Given the description of an element on the screen output the (x, y) to click on. 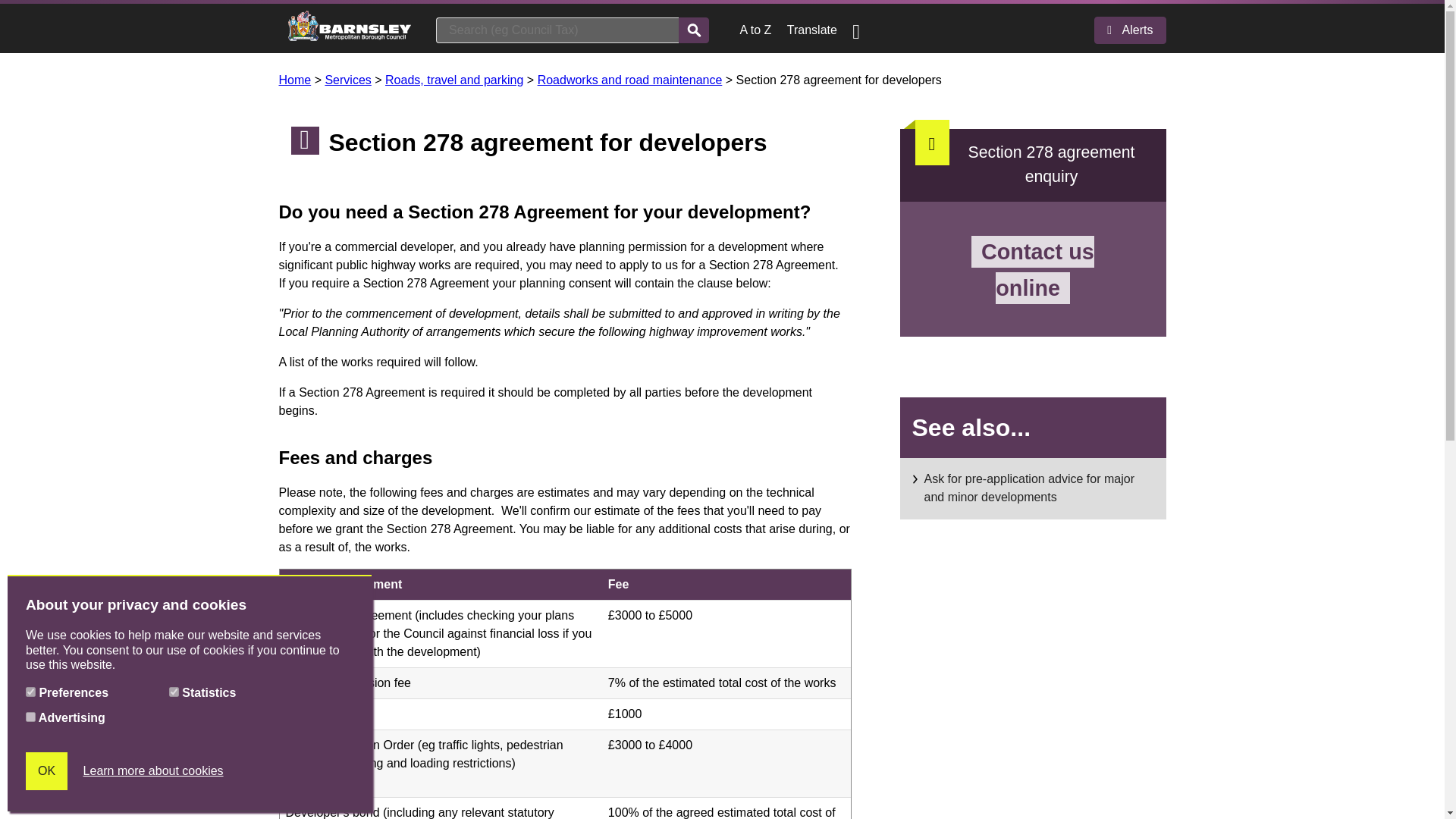
Roads, travel and parking (453, 79)
Translate (812, 29)
OK (46, 771)
Learn more about cookies (153, 771)
Services (347, 79)
True (30, 716)
Alerts (1130, 30)
Roadworks and road maintenance (629, 79)
Contact us online (1032, 269)
